Given the description of an element on the screen output the (x, y) to click on. 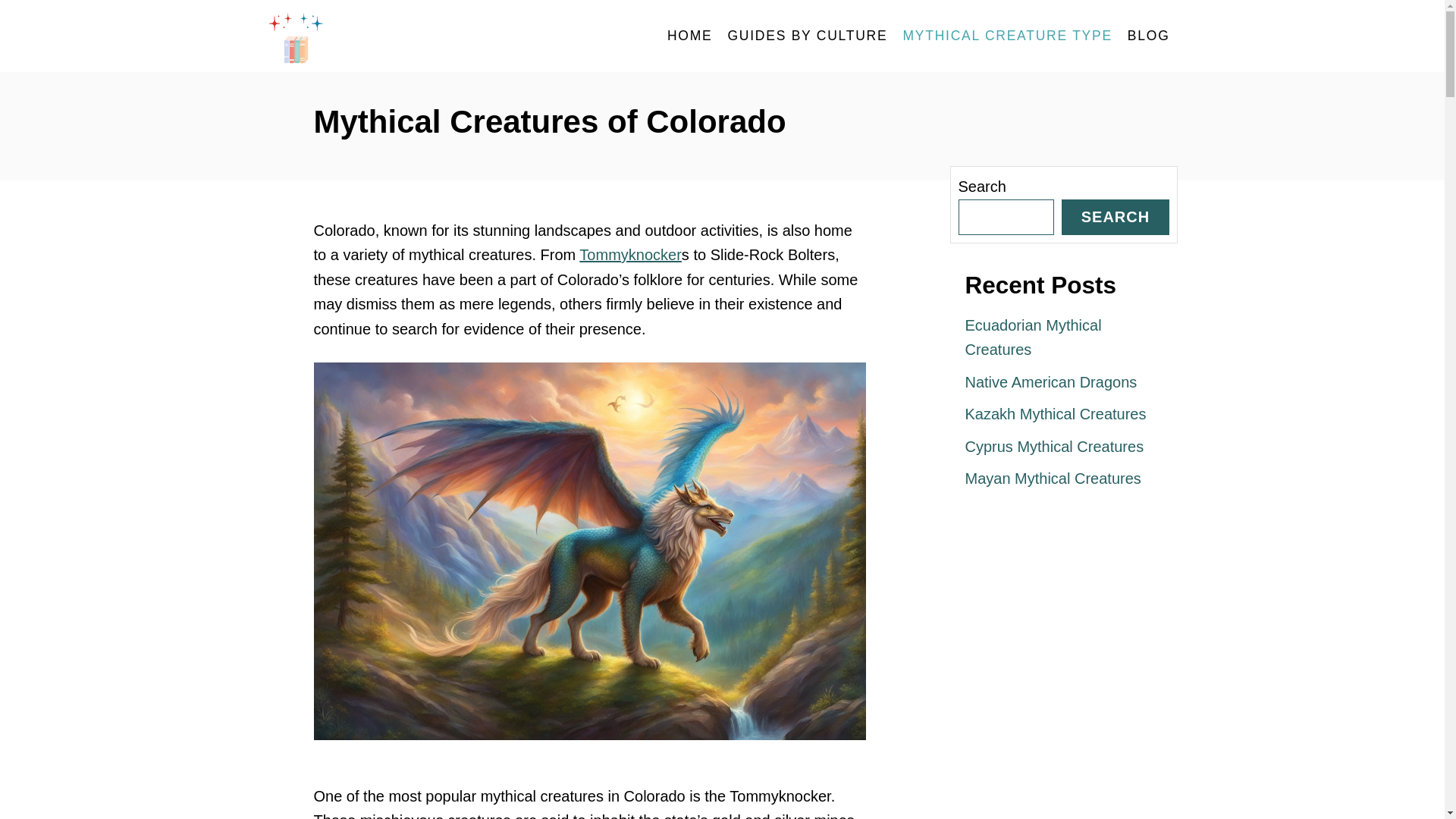
HOME (689, 36)
GUIDES BY CULTURE (807, 36)
MYTHICAL CREATURE TYPE (1007, 36)
Mythical Encyclopedia (403, 36)
